Given the description of an element on the screen output the (x, y) to click on. 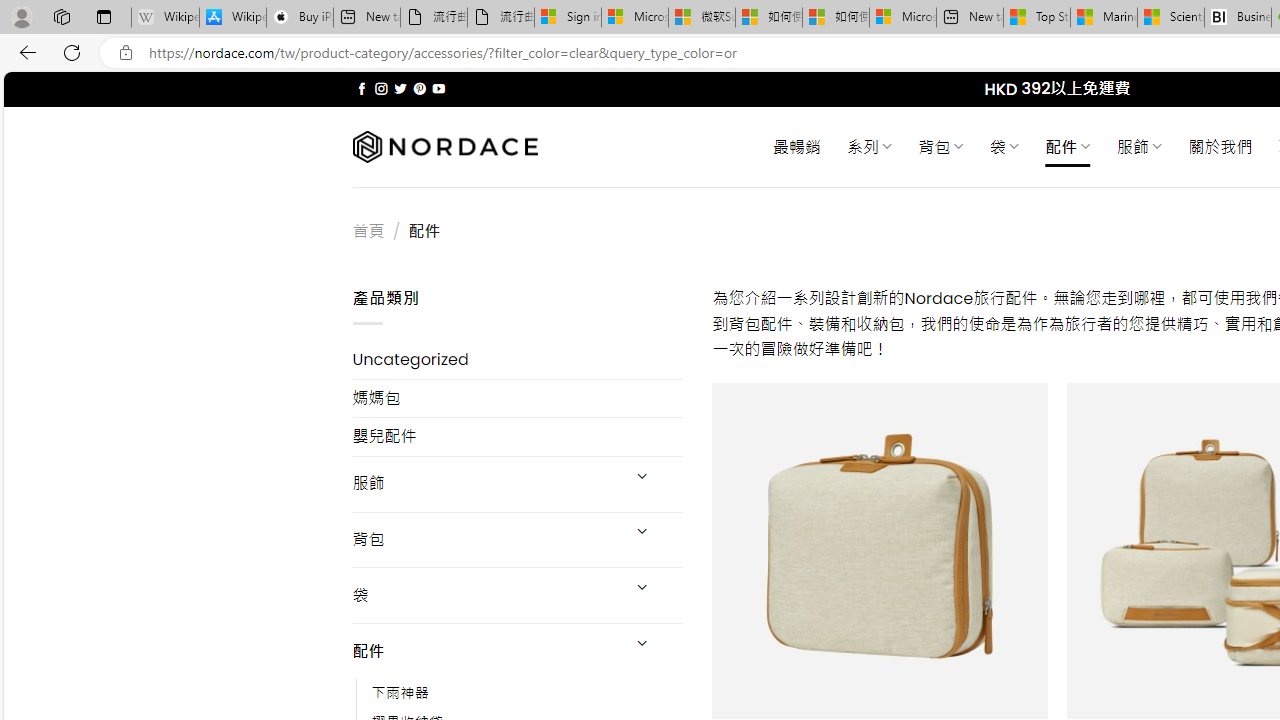
Buy iPad - Apple (299, 17)
Marine life - MSN (1103, 17)
Sign in to your Microsoft account (568, 17)
Top Stories - MSN (1036, 17)
Microsoft account | Account Checkup (902, 17)
Follow on Pinterest (419, 88)
